Given the description of an element on the screen output the (x, y) to click on. 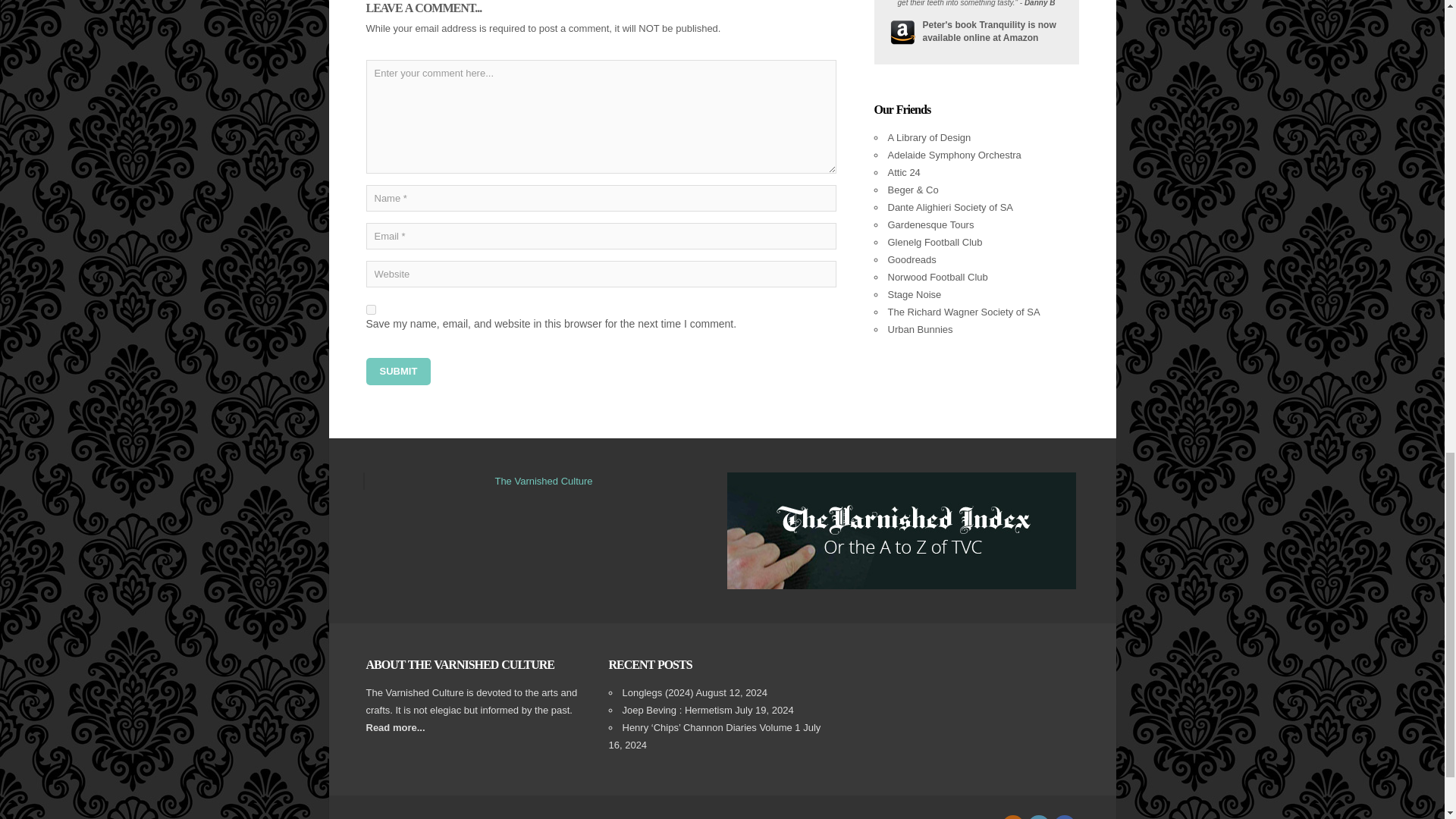
Submit (397, 370)
Submit (397, 370)
yes (370, 309)
